Given the description of an element on the screen output the (x, y) to click on. 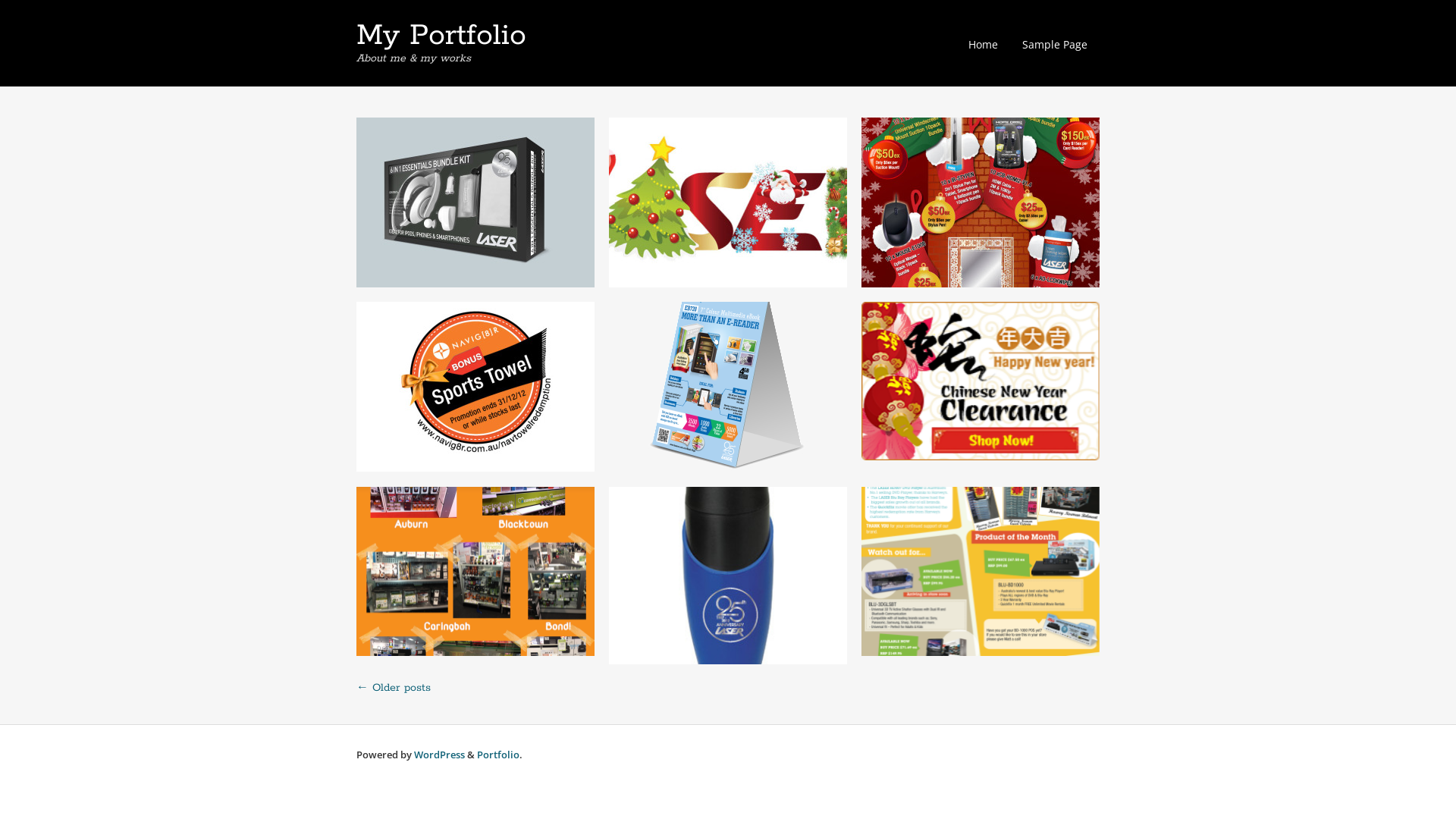
My Portfolio Element type: text (441, 35)
Sample Page Element type: text (1054, 44)
Portfolio Element type: text (497, 754)
Home Element type: text (983, 44)
WordPress Element type: text (439, 754)
